Given the description of an element on the screen output the (x, y) to click on. 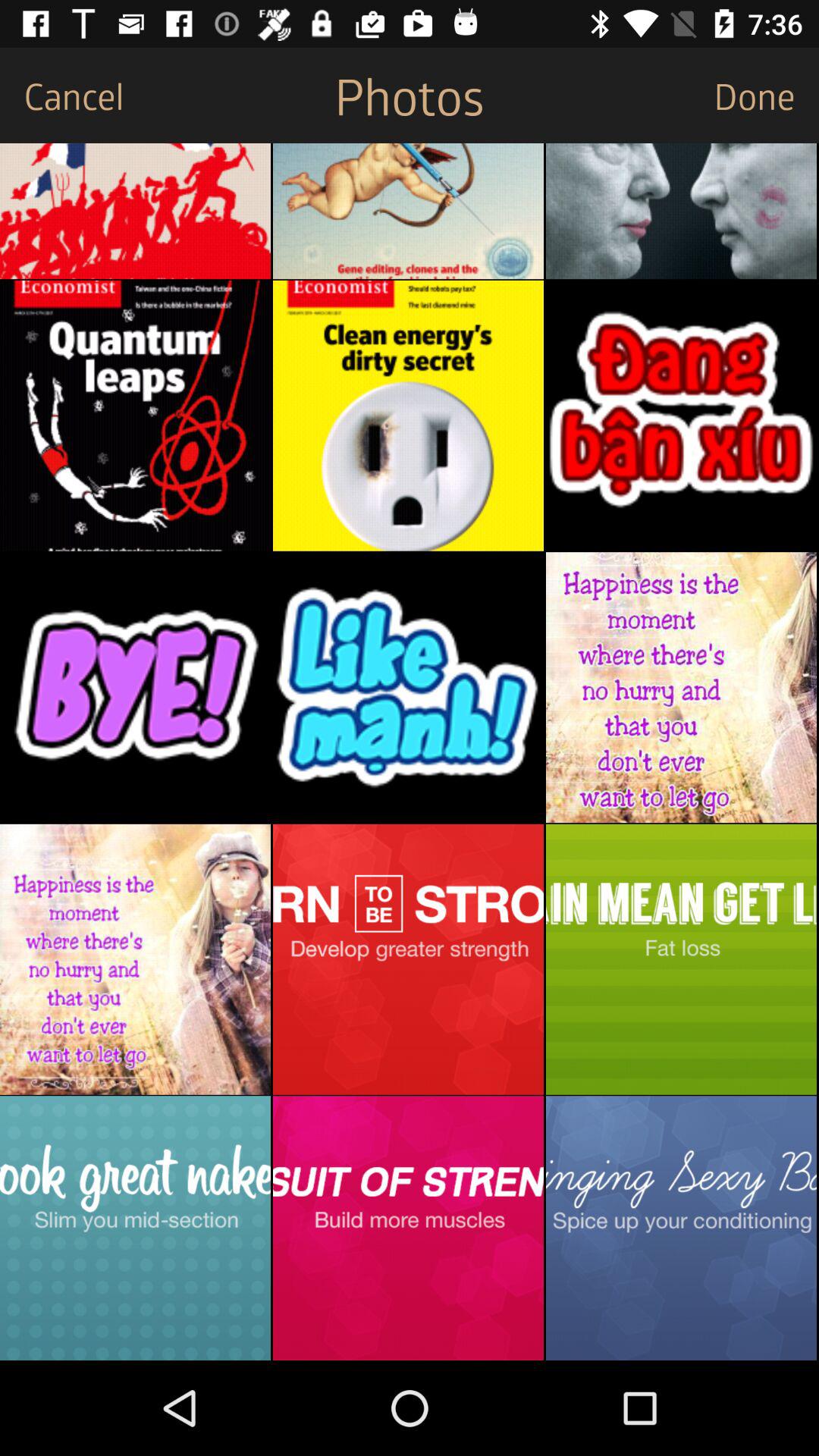
select the image tab to select image (408, 415)
